Given the description of an element on the screen output the (x, y) to click on. 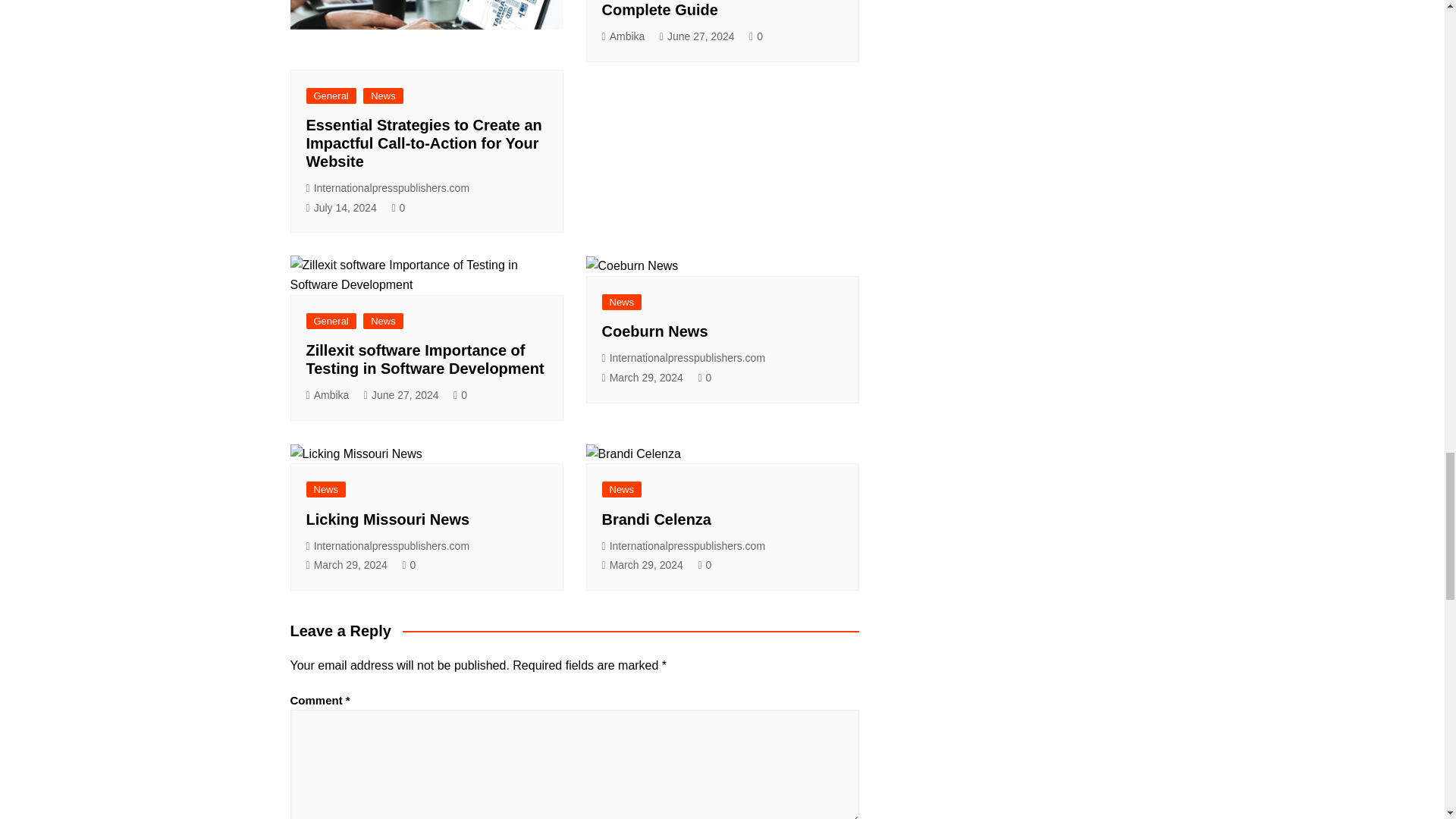
July 14, 2024 (341, 208)
Ambika (327, 395)
Fullscreen Undertale: A Complete Guide (686, 9)
Internationalpresspublishers.com (387, 188)
Ambika (623, 36)
News (382, 95)
General (330, 320)
News (382, 320)
General (330, 95)
